Given the description of an element on the screen output the (x, y) to click on. 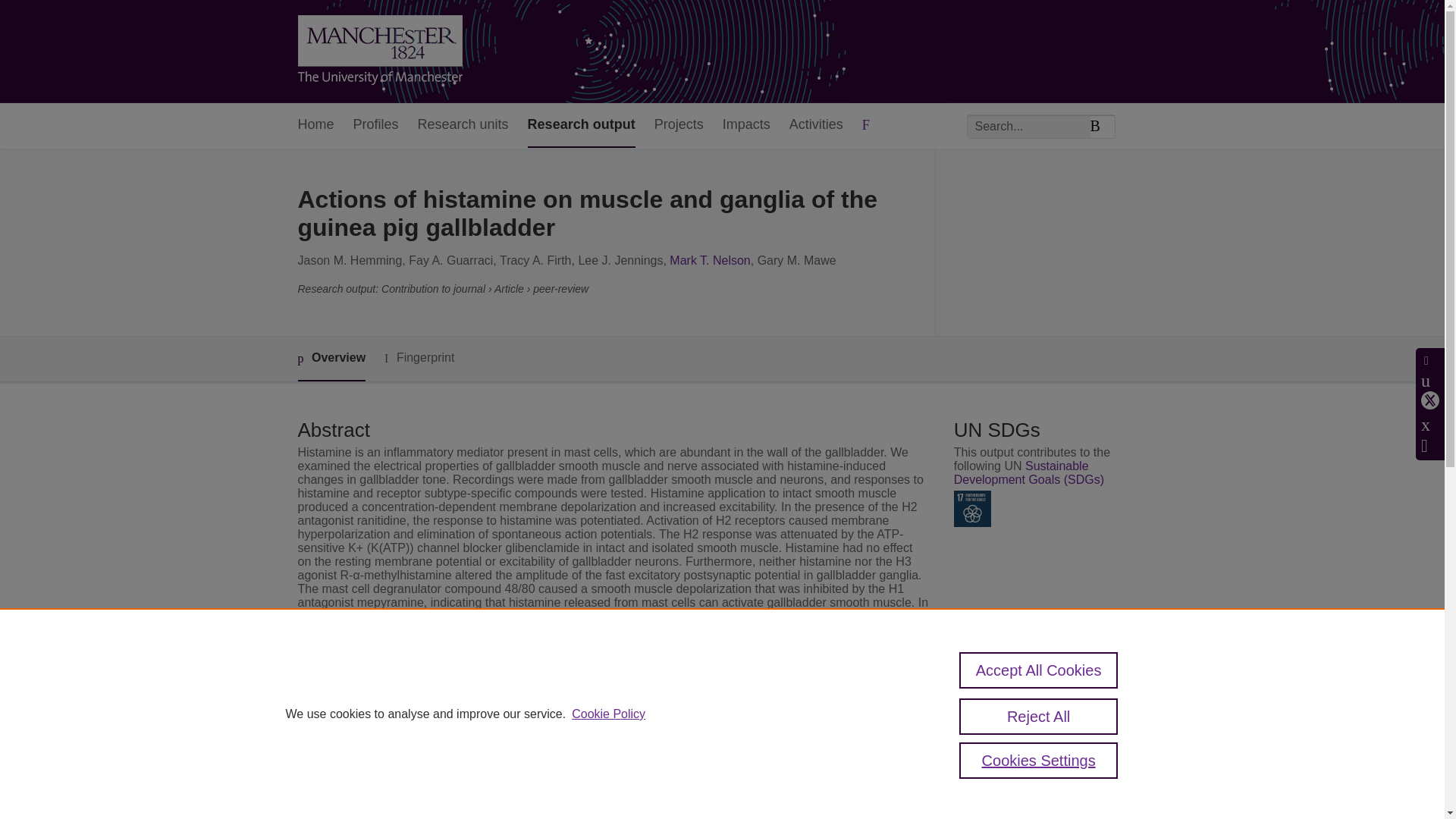
Fingerprint (419, 358)
Profiles (375, 125)
Impacts (746, 125)
Overview (331, 358)
Research Explorer The University of Manchester Home (379, 51)
Cookie Policy (608, 713)
Projects (678, 125)
SDG 17 - Partnerships for the Goals (972, 508)
Activities (816, 125)
